Given the description of an element on the screen output the (x, y) to click on. 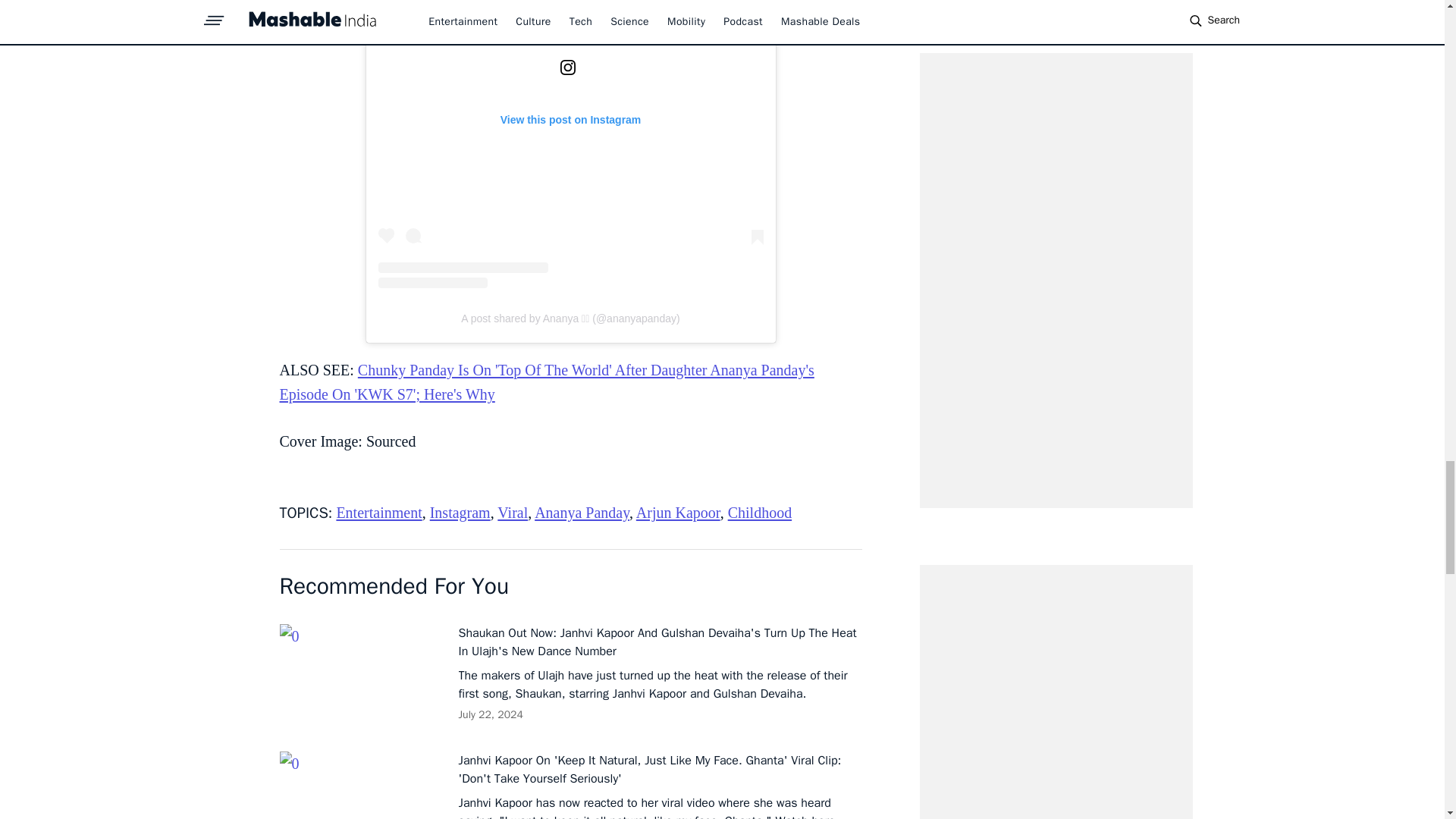
Childhood (760, 512)
Ananya Panday (581, 512)
Instagram (459, 512)
Entertainment (379, 512)
Viral (512, 512)
View this post on Instagram (569, 144)
Arjun Kapoor (678, 512)
